Given the description of an element on the screen output the (x, y) to click on. 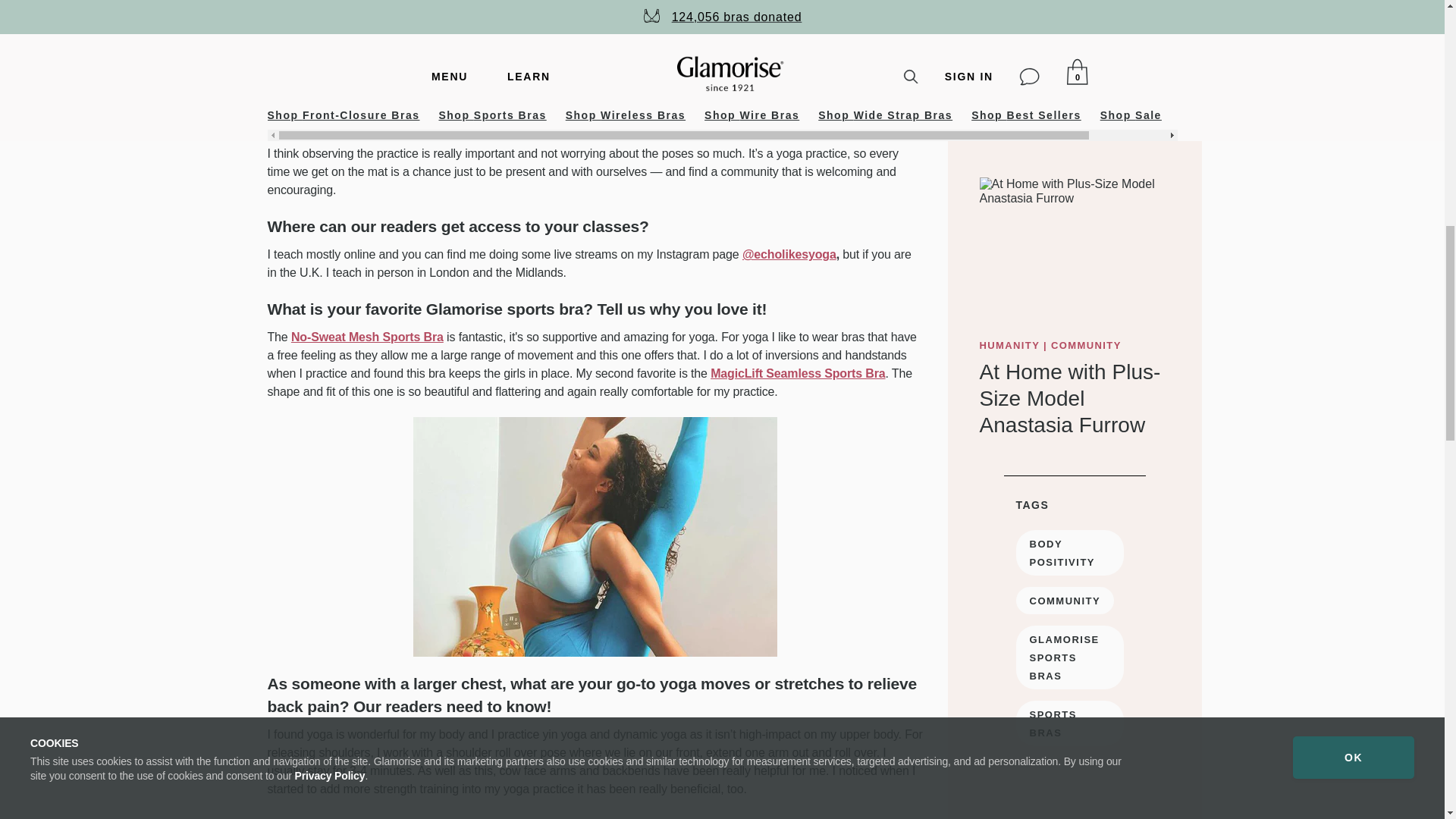
No-Sweat Mesh Sports Bra (367, 336)
MagicLift Seamless Sports Bra (797, 373)
